Given the description of an element on the screen output the (x, y) to click on. 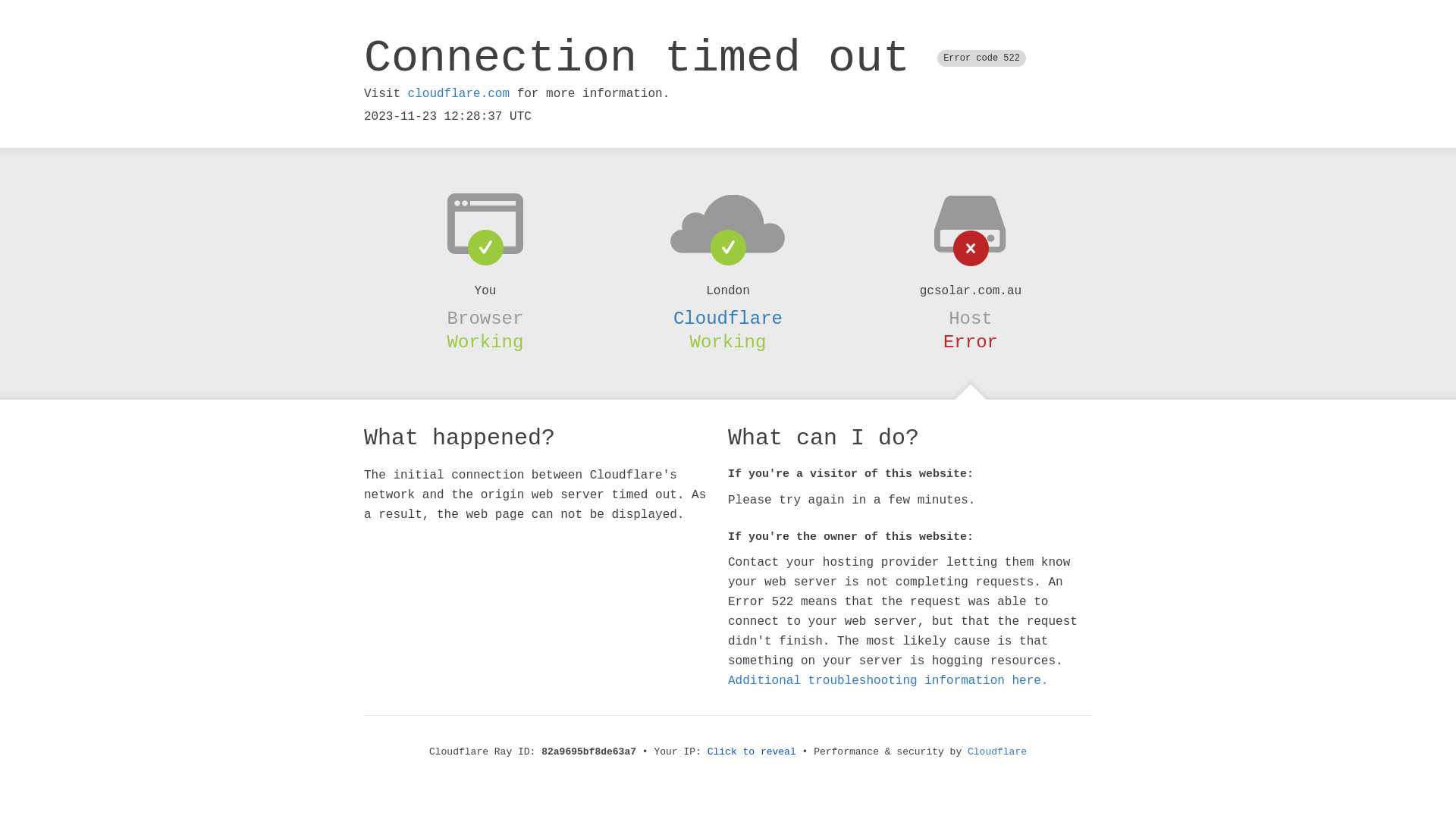
Additional troubleshooting information here. Element type: text (888, 680)
Cloudflare Element type: text (727, 318)
cloudflare.com Element type: text (458, 93)
Click to reveal Element type: text (751, 751)
Cloudflare Element type: text (996, 751)
